Given the description of an element on the screen output the (x, y) to click on. 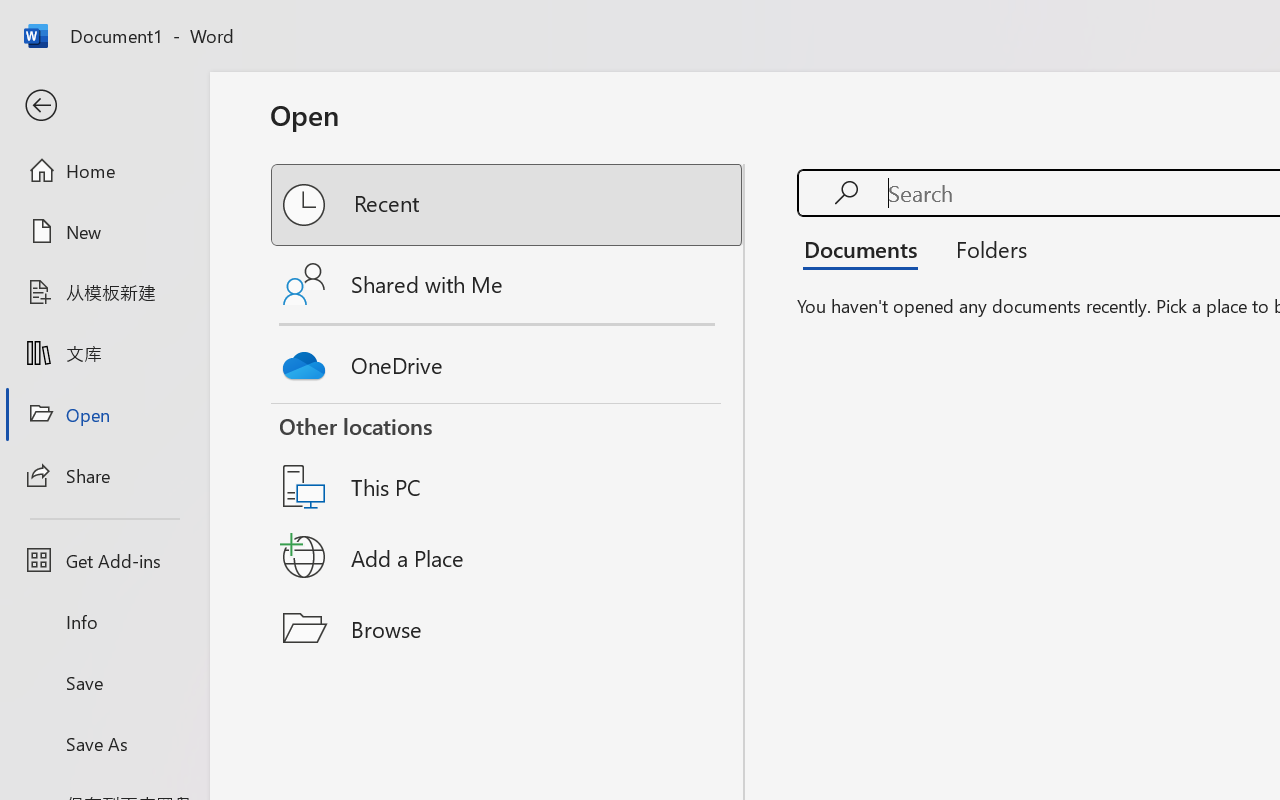
This PC (507, 461)
Info (104, 621)
Add a Place (507, 557)
Recent (507, 205)
Browse (507, 627)
Get Add-ins (104, 560)
New (104, 231)
OneDrive (507, 359)
